Given the description of an element on the screen output the (x, y) to click on. 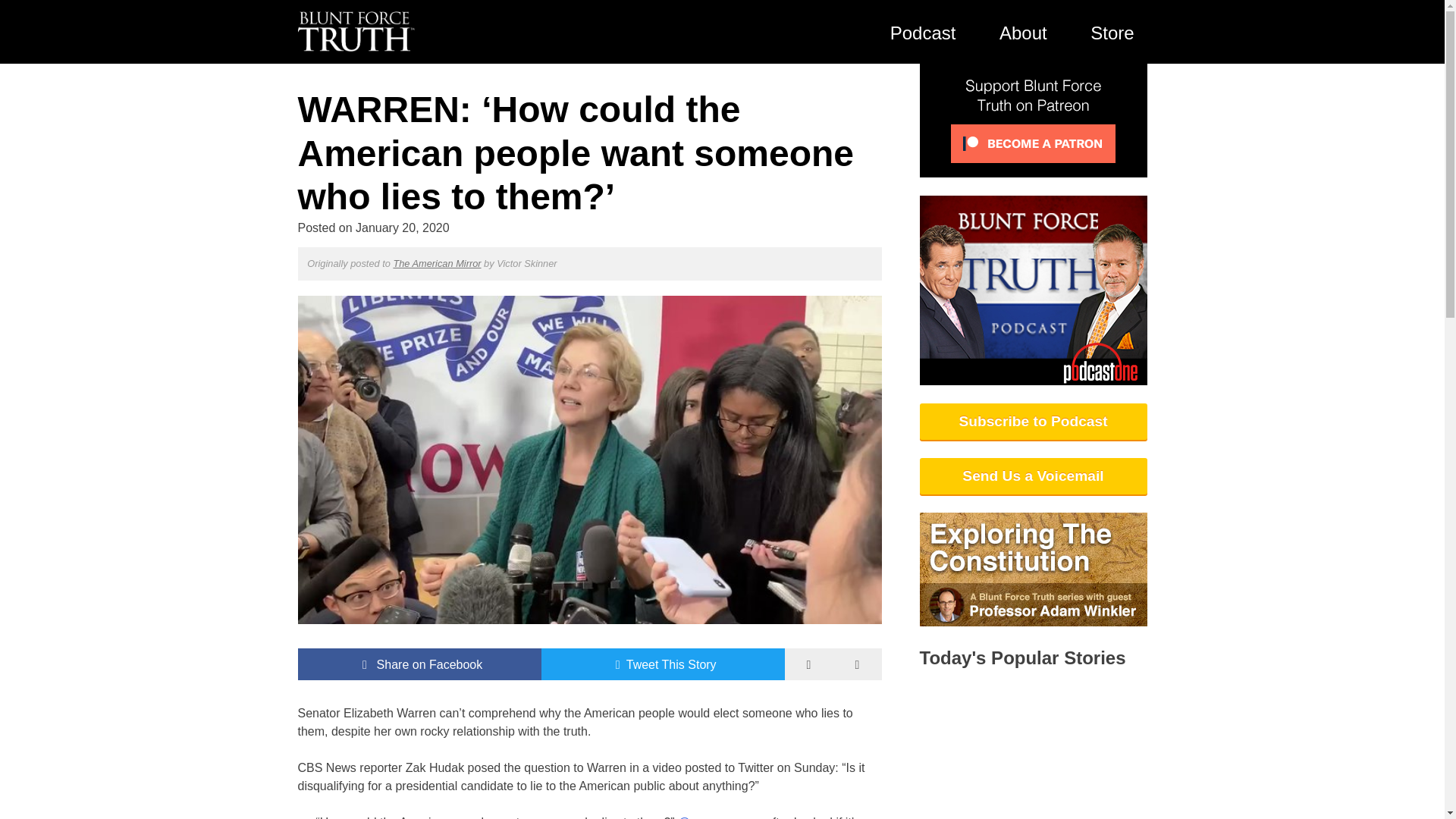
Tweet This Story (662, 664)
Podcast (922, 31)
About (1023, 31)
Send Us a Voicemail (1032, 475)
Store (1112, 31)
Share on Facebook (418, 664)
The American Mirror (436, 263)
Subscribe to Podcast (1032, 421)
